Given the description of an element on the screen output the (x, y) to click on. 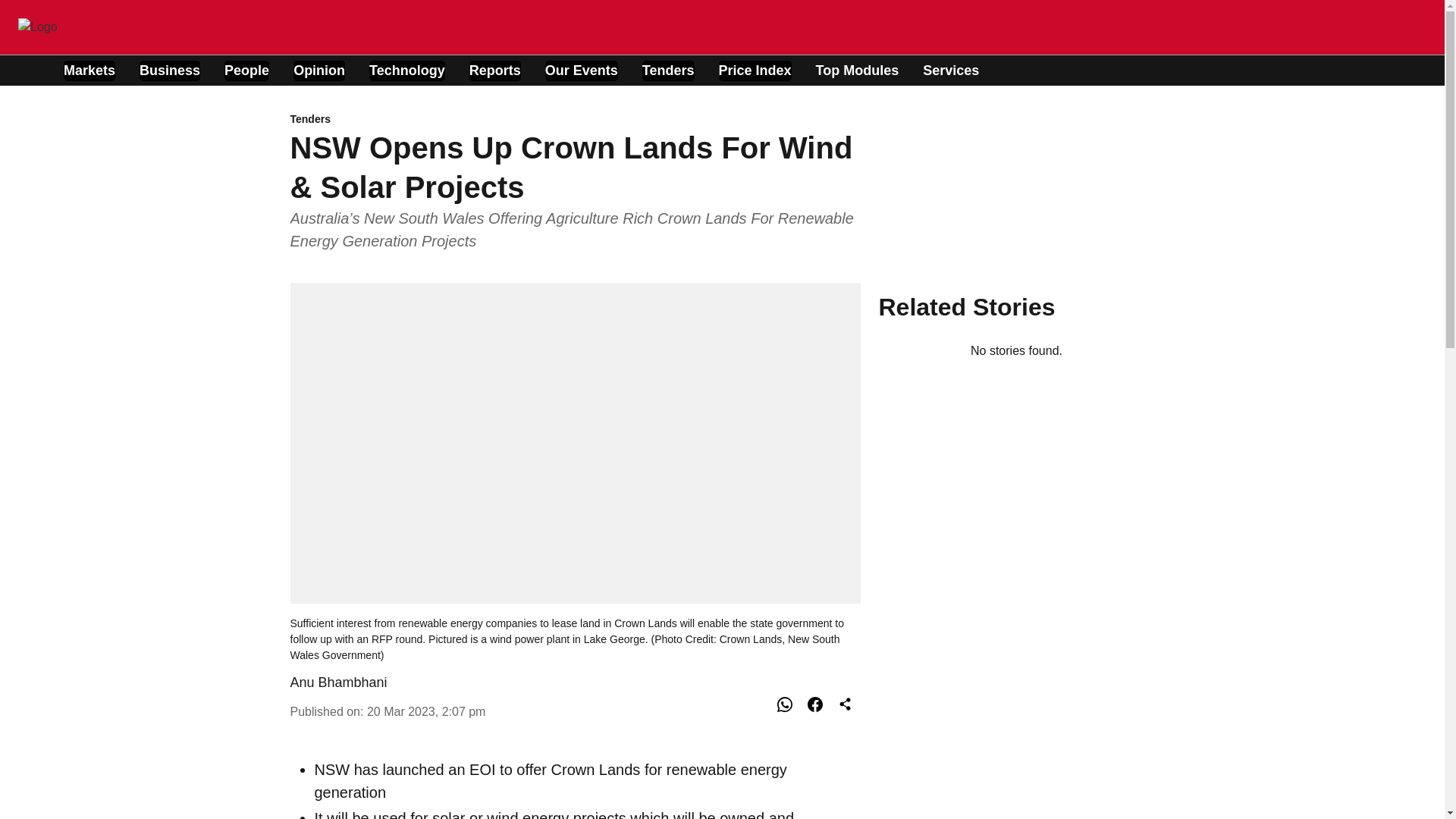
2023-03-20 14:07 (426, 711)
Business (169, 70)
Technology (407, 70)
Tenders (574, 119)
Markets (89, 70)
Price Index (755, 70)
Opinion (319, 70)
Reports (494, 70)
People (246, 70)
Our Events (580, 70)
Tenders (668, 70)
Anu Bhambhani (338, 682)
